Given the description of an element on the screen output the (x, y) to click on. 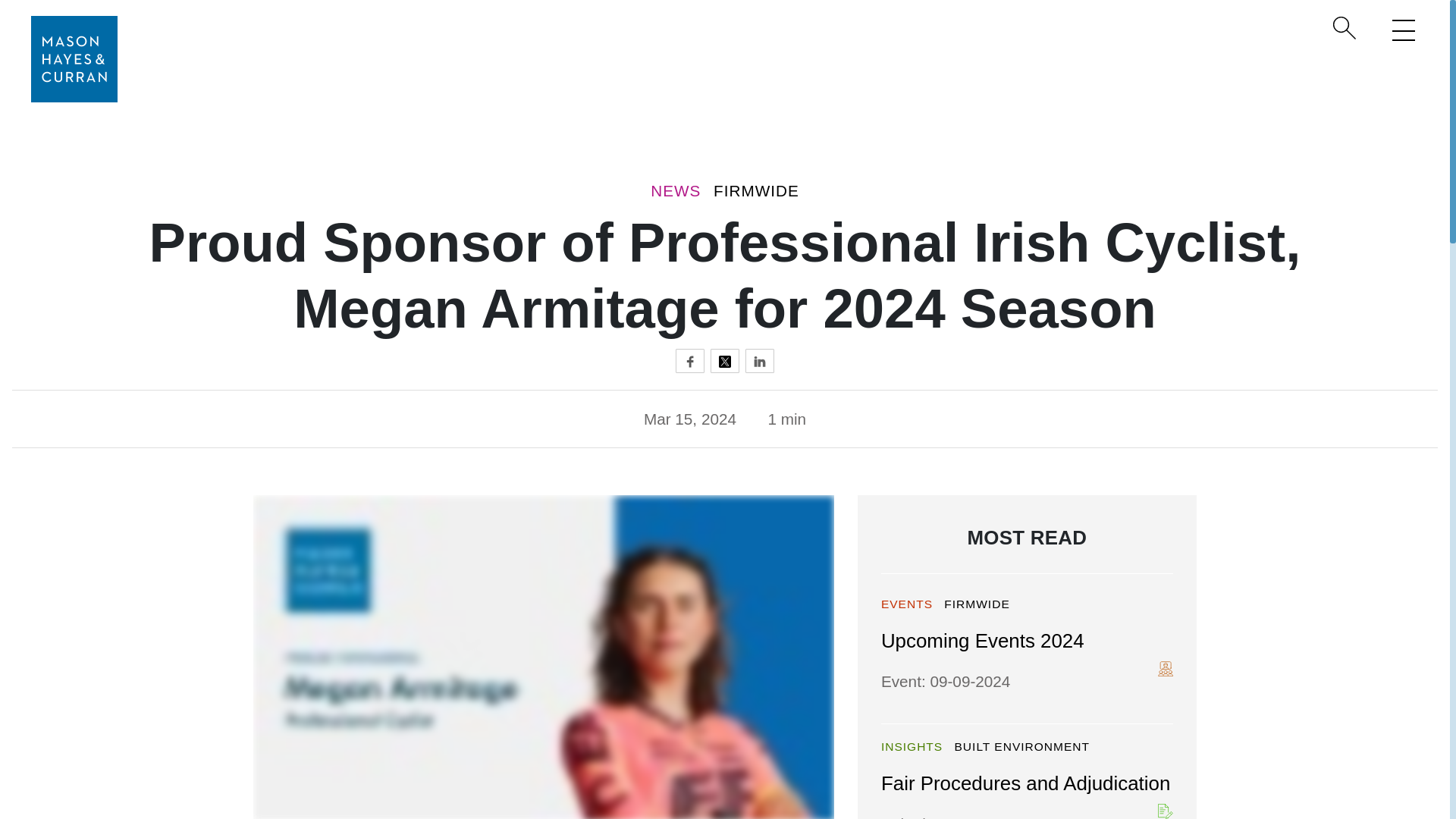
Upcoming Events 2024 (982, 640)
Fair Procedures and Adjudication (1025, 783)
NEWS (675, 190)
